Given the description of an element on the screen output the (x, y) to click on. 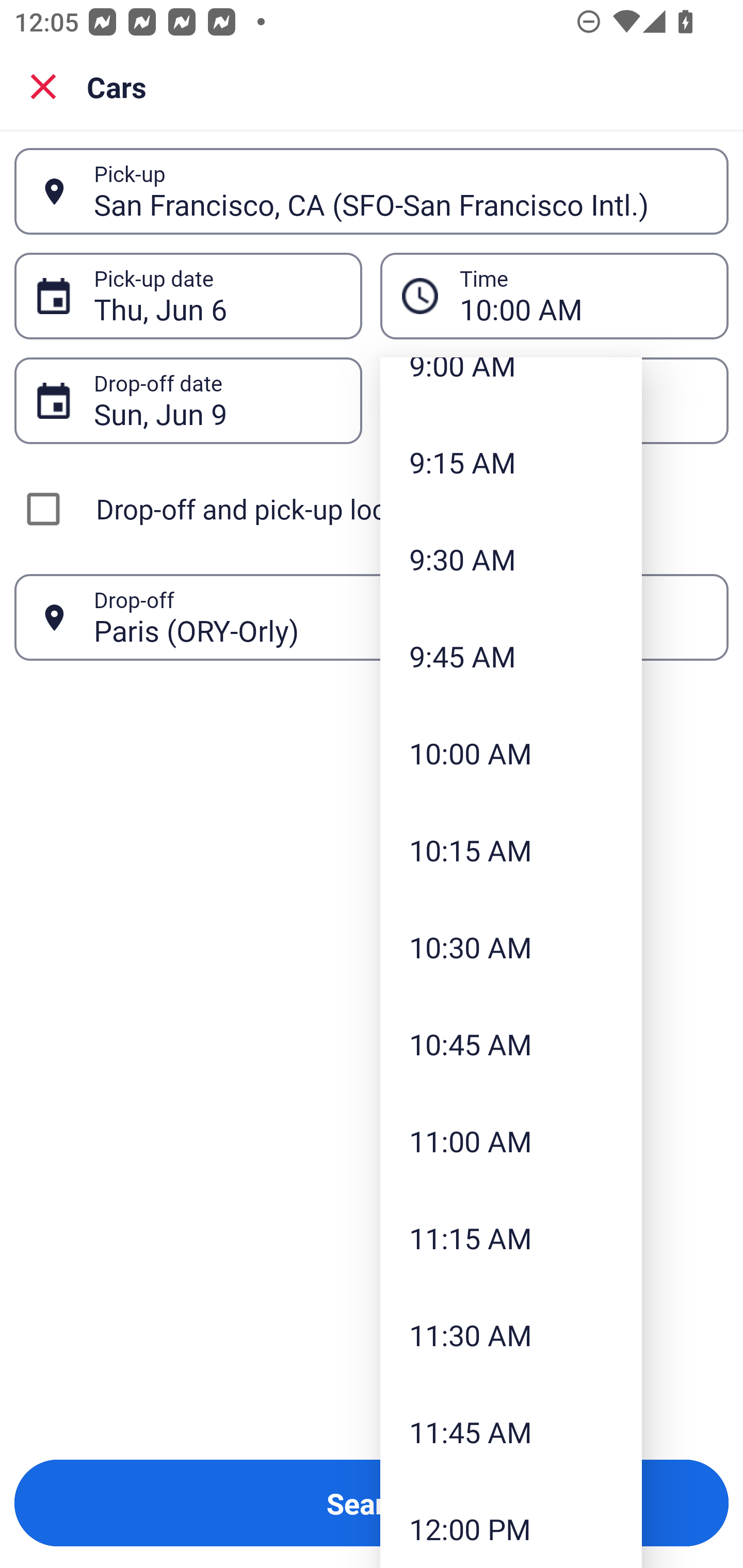
9:00 AM (510, 385)
9:15 AM (510, 462)
9:30 AM (510, 559)
9:45 AM (510, 656)
10:00 AM (510, 752)
10:15 AM (510, 849)
10:30 AM (510, 946)
10:45 AM (510, 1043)
11:00 AM (510, 1141)
11:15 AM (510, 1237)
11:30 AM (510, 1333)
11:45 AM (510, 1431)
12:00 PM (510, 1524)
